Given the description of an element on the screen output the (x, y) to click on. 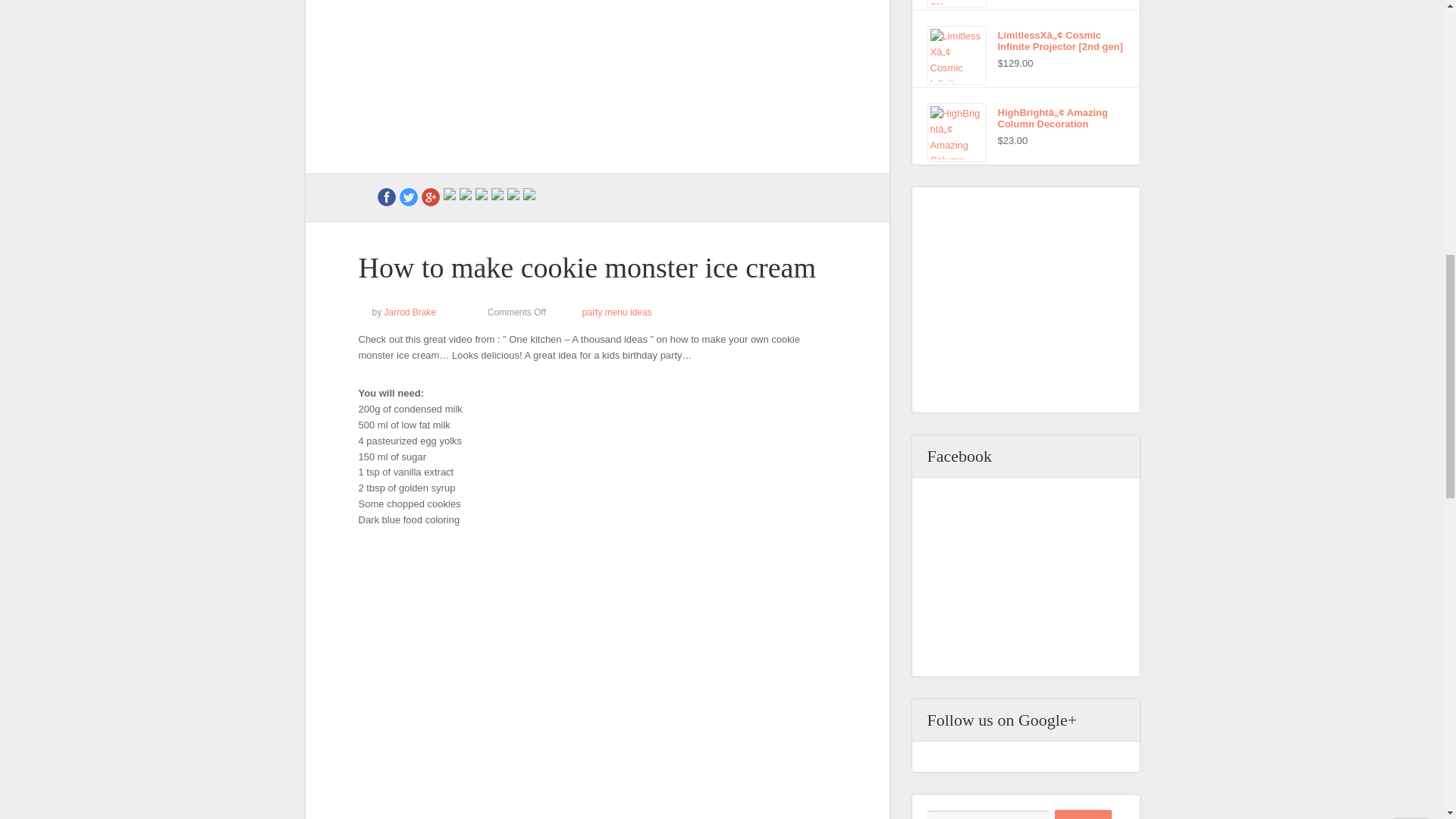
Jarrod Brake (410, 312)
Posts by Jarrod Brake (410, 312)
How to make cookie monster ice cream (596, 86)
Search (1083, 814)
party menu ideas (617, 312)
View all posts in party menu ideas (617, 312)
